Given the description of an element on the screen output the (x, y) to click on. 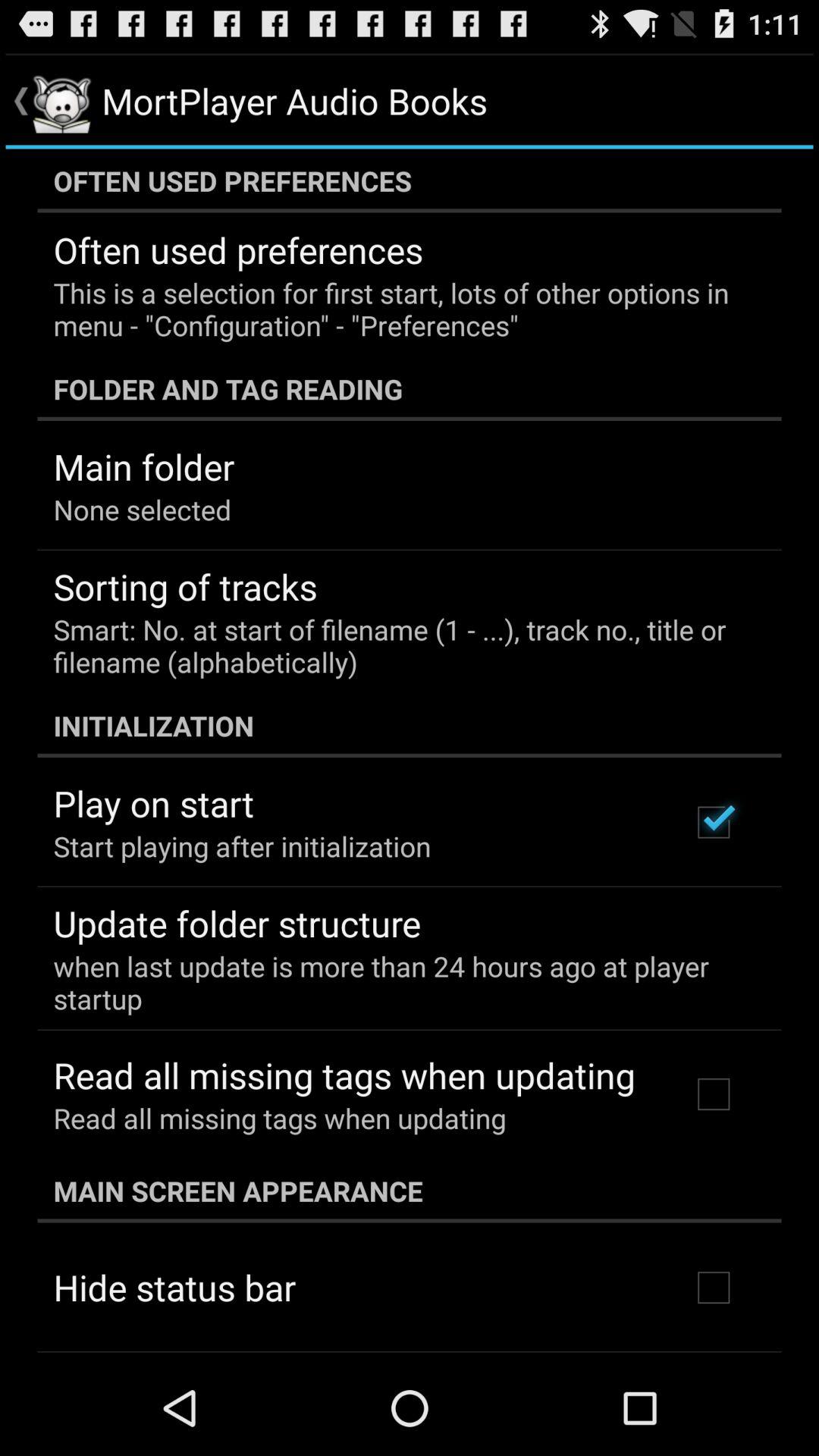
press the icon below read all missing item (409, 1190)
